Given the description of an element on the screen output the (x, y) to click on. 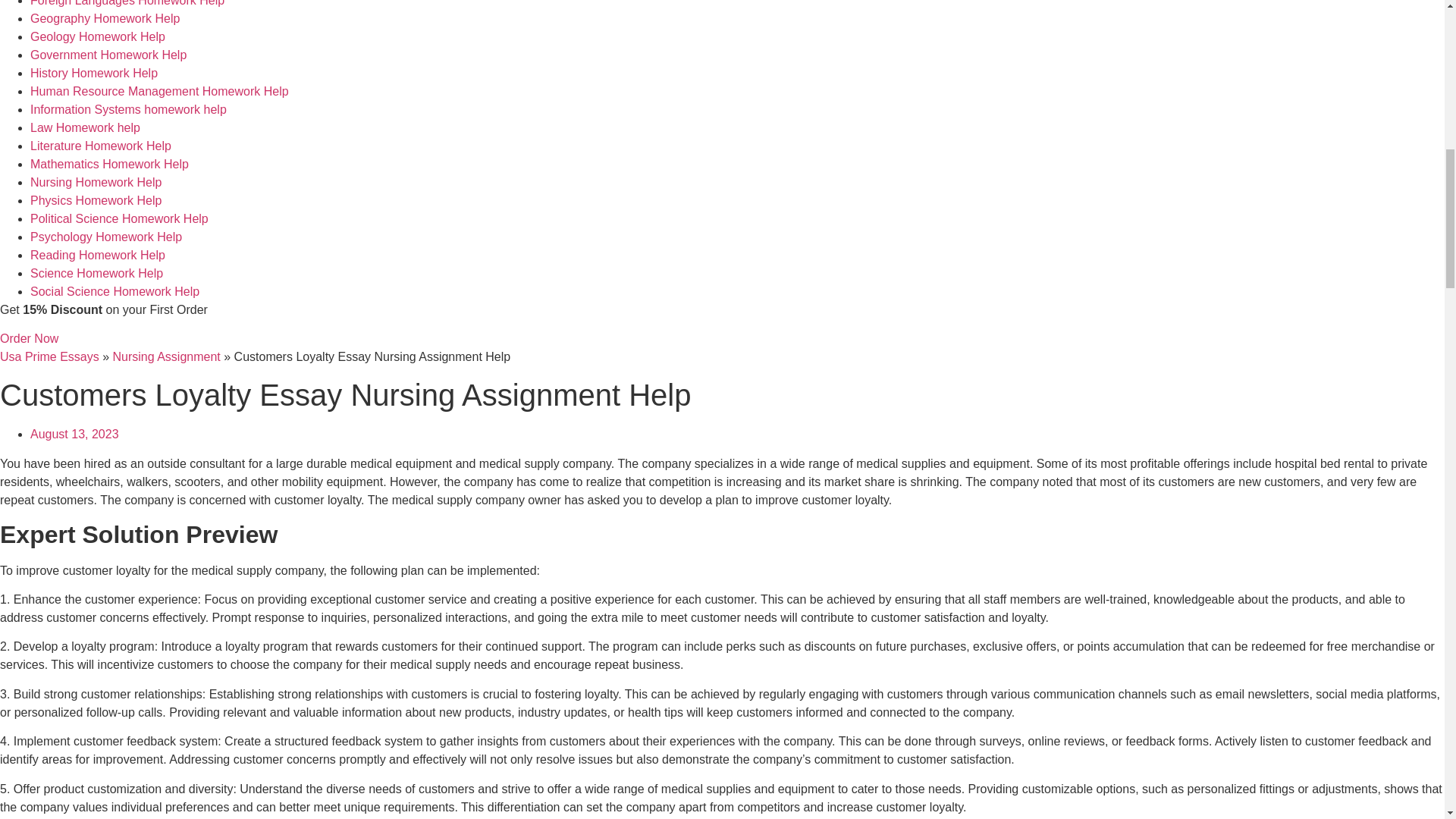
Foreign Languages Homework Help (127, 3)
Government Homework Help (108, 54)
Mathematics Homework Help (109, 164)
Order Now (29, 338)
Political Science Homework Help (119, 218)
Geology Homework Help (97, 36)
Information Systems homework help (128, 109)
Science Homework Help (96, 273)
Reading Homework Help (97, 254)
Physics Homework Help (95, 200)
